Given the description of an element on the screen output the (x, y) to click on. 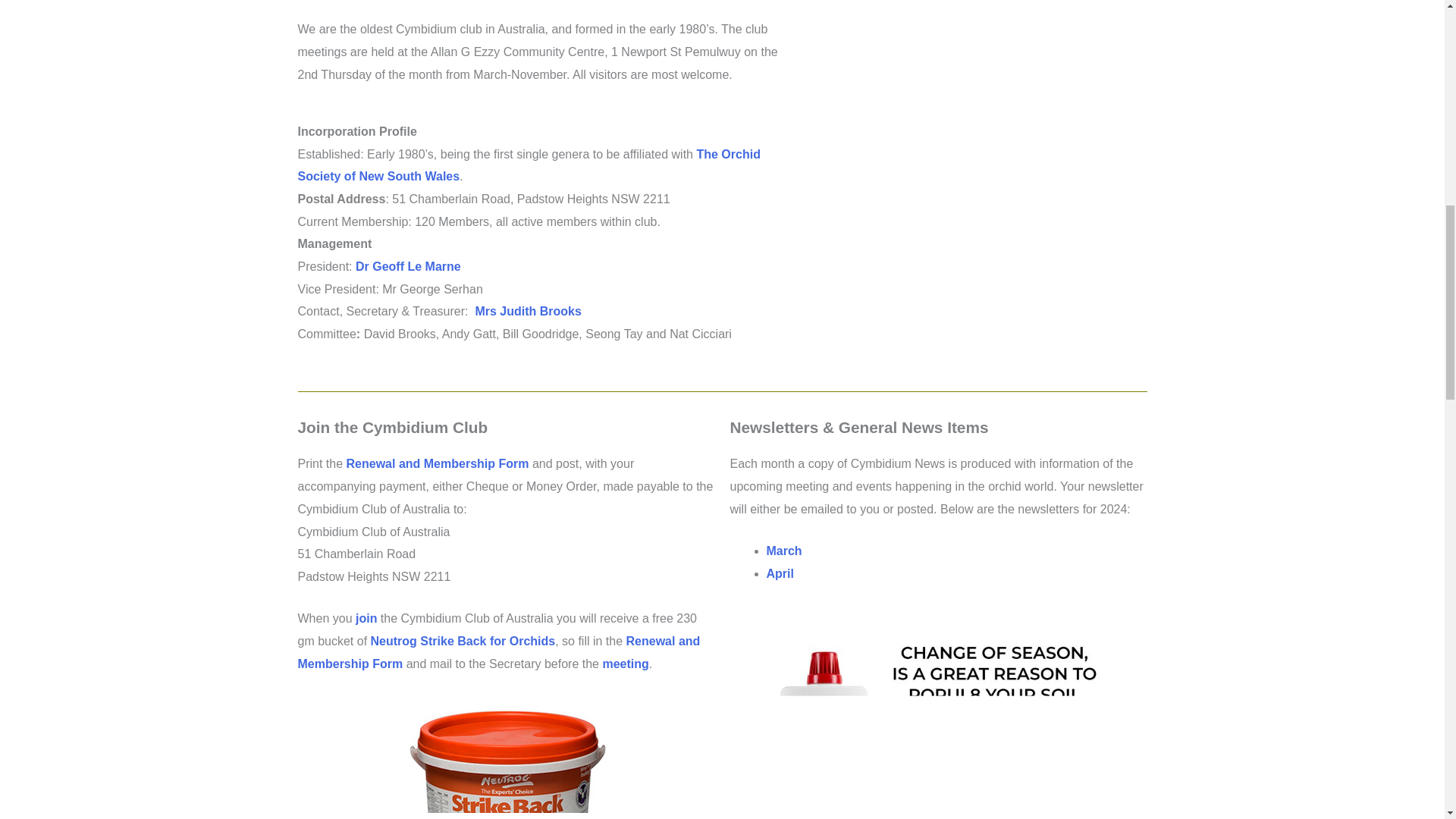
meeting (624, 663)
join (366, 617)
Dr Geoff Le Marne (408, 266)
1 Newport St Pemulwuy (973, 131)
Neutrog Strike Back for Orchids (463, 640)
The Orchid Society of New South Wales (528, 165)
Mrs Judith Brooks (527, 310)
April (779, 573)
March (783, 550)
Renewal and Membership Form (437, 463)
Renewal and Membership Form (498, 652)
